Given the description of an element on the screen output the (x, y) to click on. 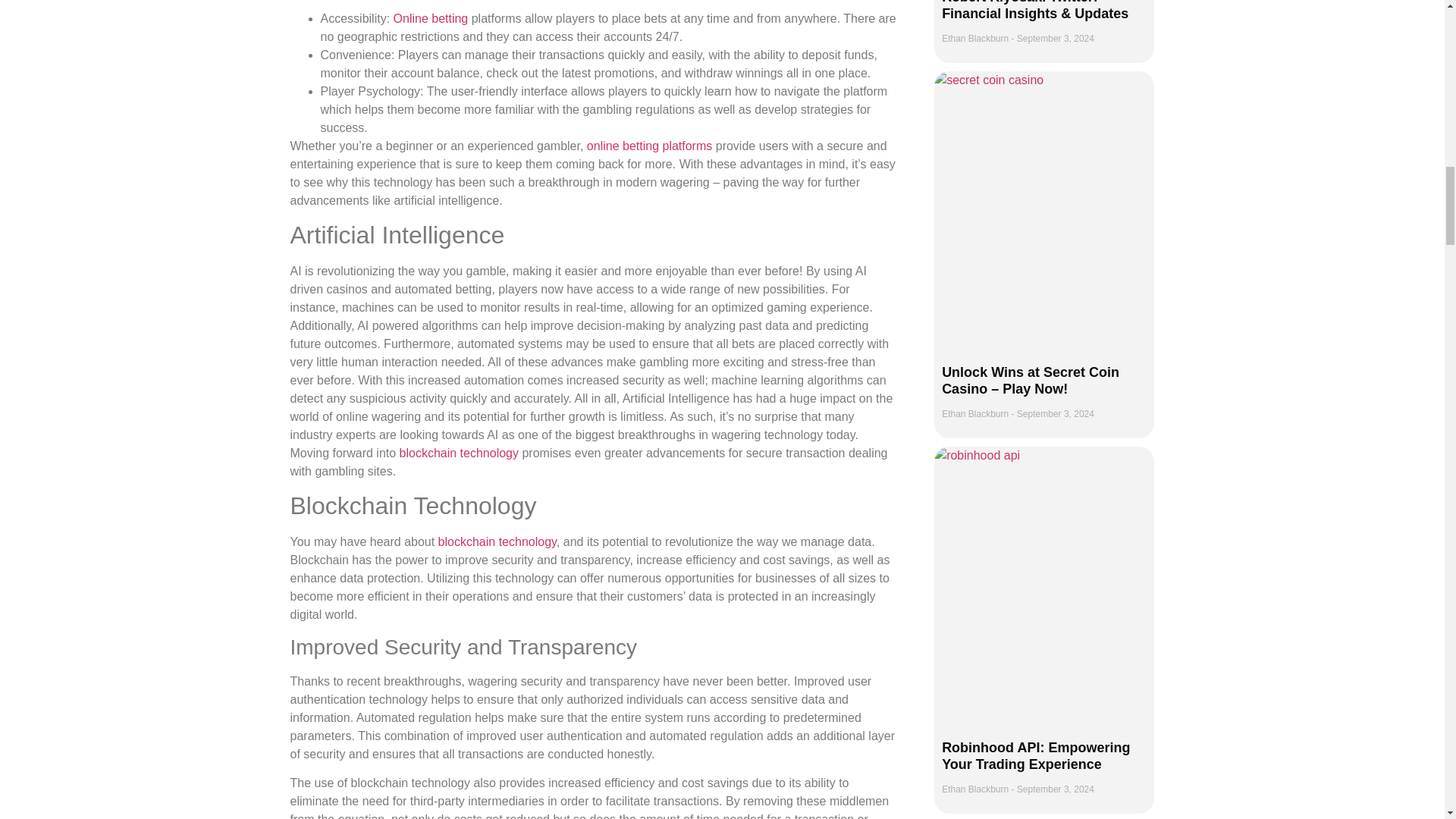
Online betting (430, 18)
blockchain technology (458, 452)
online betting platforms (648, 145)
blockchain technology (497, 541)
